Given the description of an element on the screen output the (x, y) to click on. 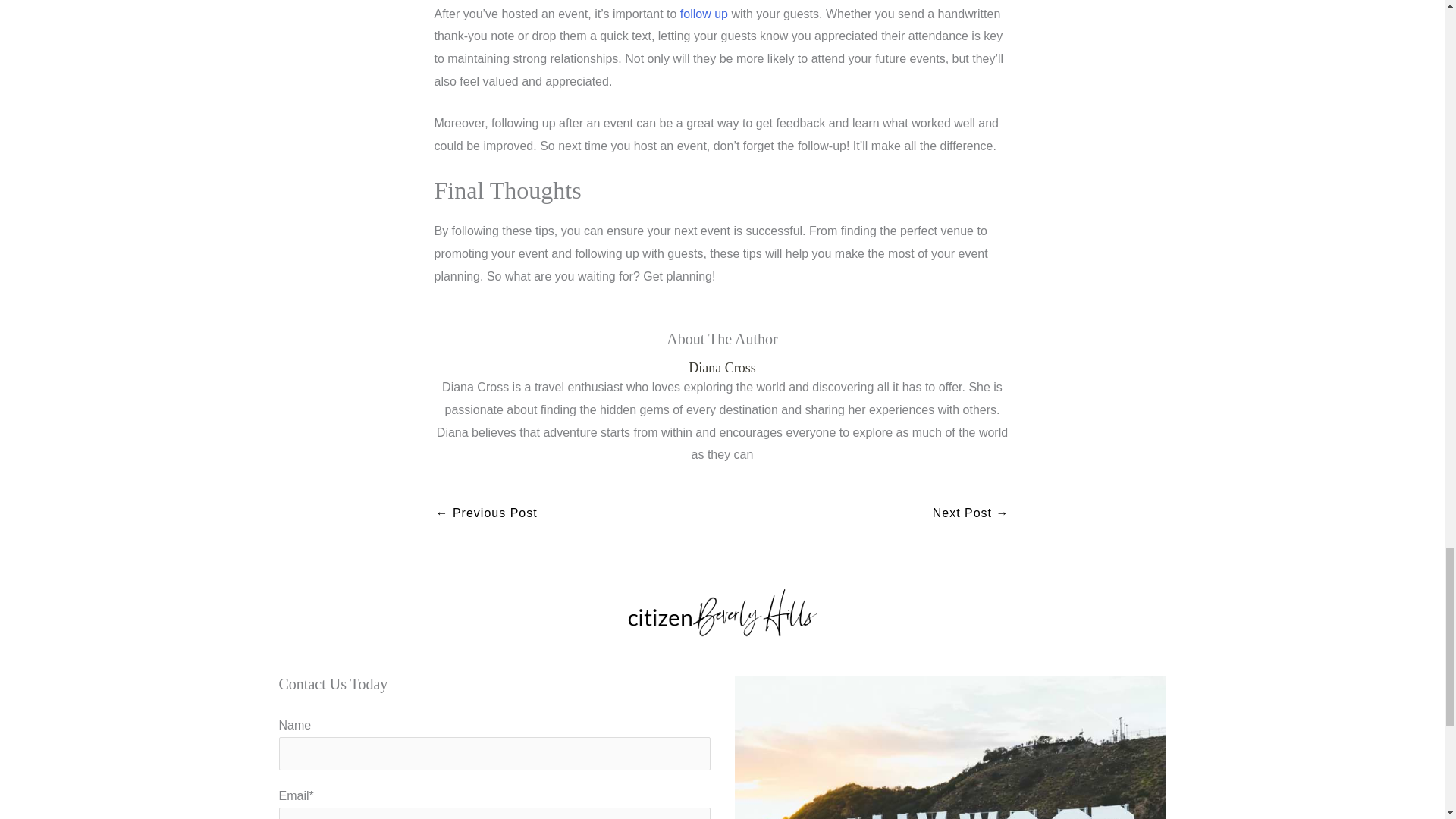
follow up (703, 13)
Tips for Young People Trying to Make Friends in a New City (486, 514)
Home Coffee Journey: How To Brew At Home (971, 514)
Diana Cross (721, 367)
